Given the description of an element on the screen output the (x, y) to click on. 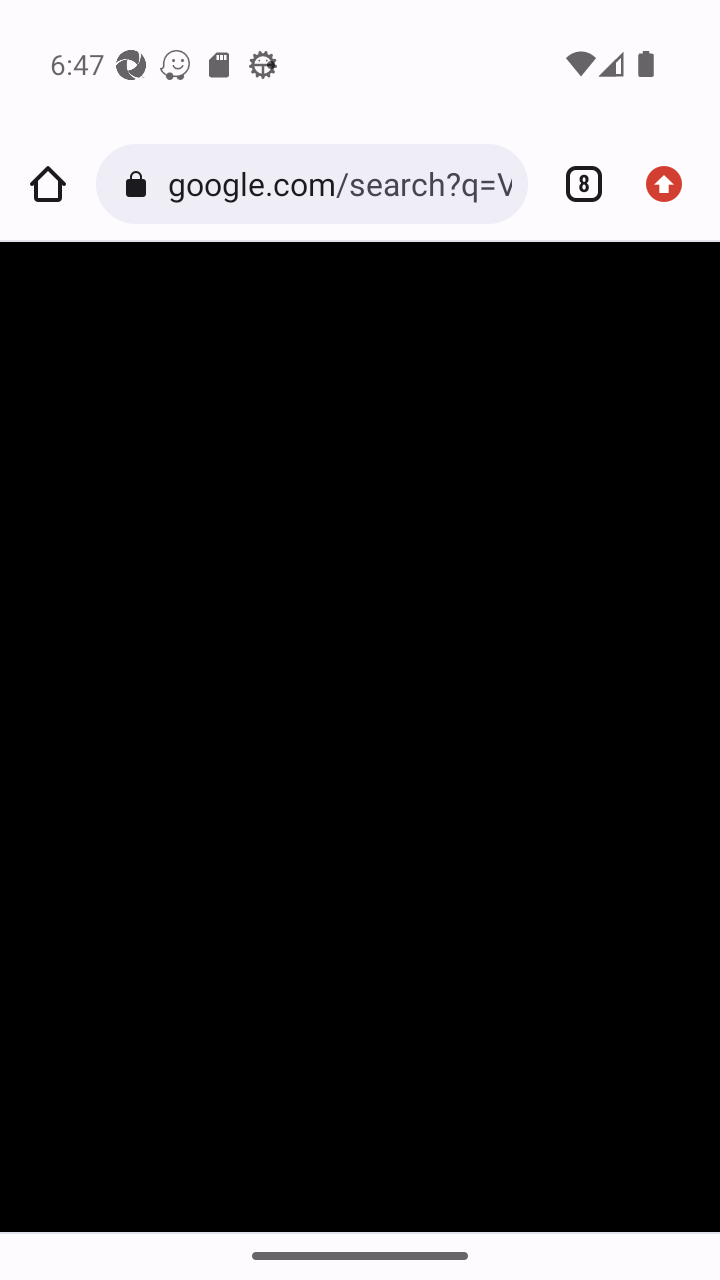
Home (47, 184)
Connection is secure (139, 184)
Switch or close tabs (575, 184)
Update available. More options (672, 184)
